Given the description of an element on the screen output the (x, y) to click on. 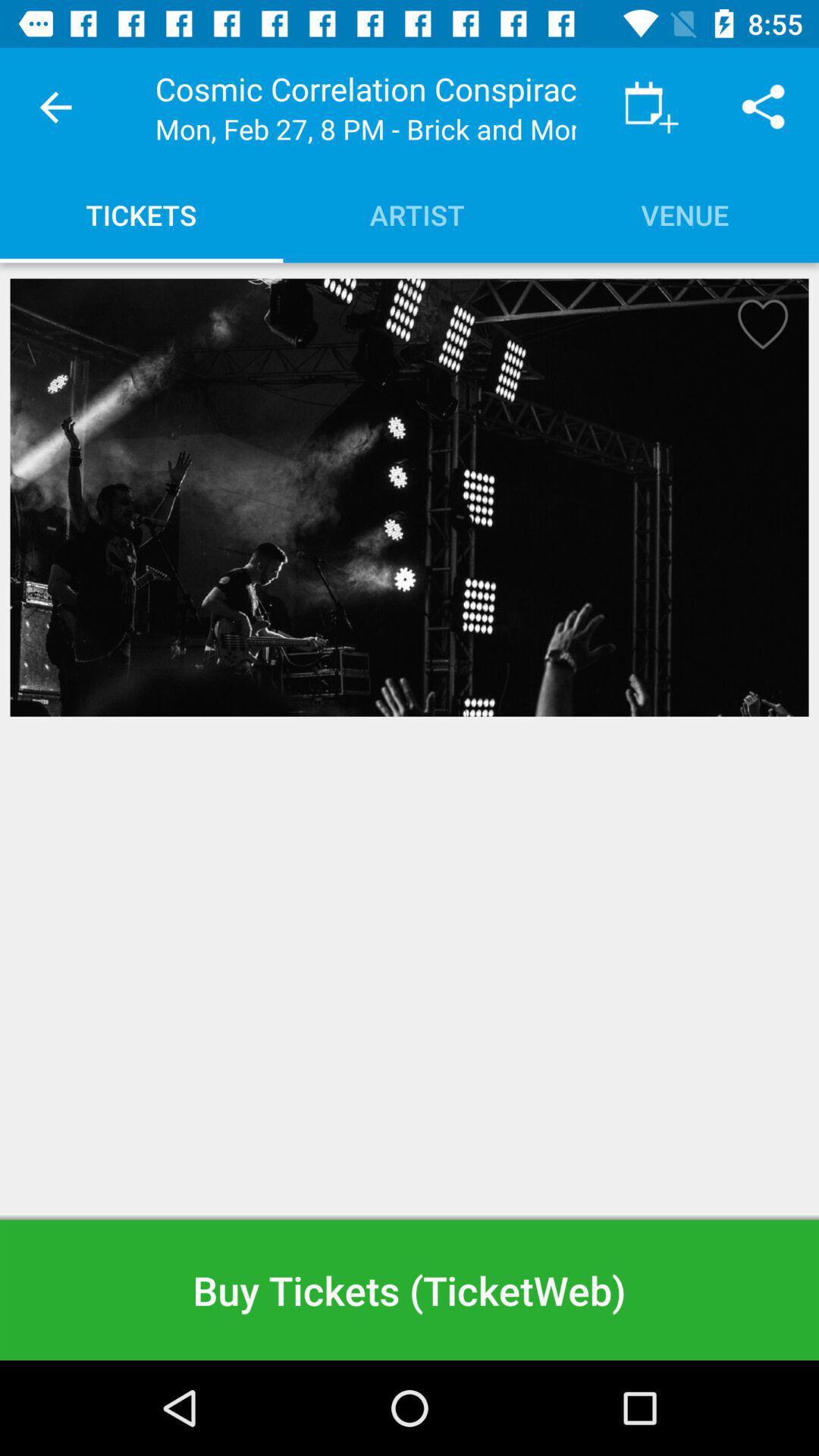
choose the item to the right of the cosmic correlation conspiracy (651, 107)
